Given the description of an element on the screen output the (x, y) to click on. 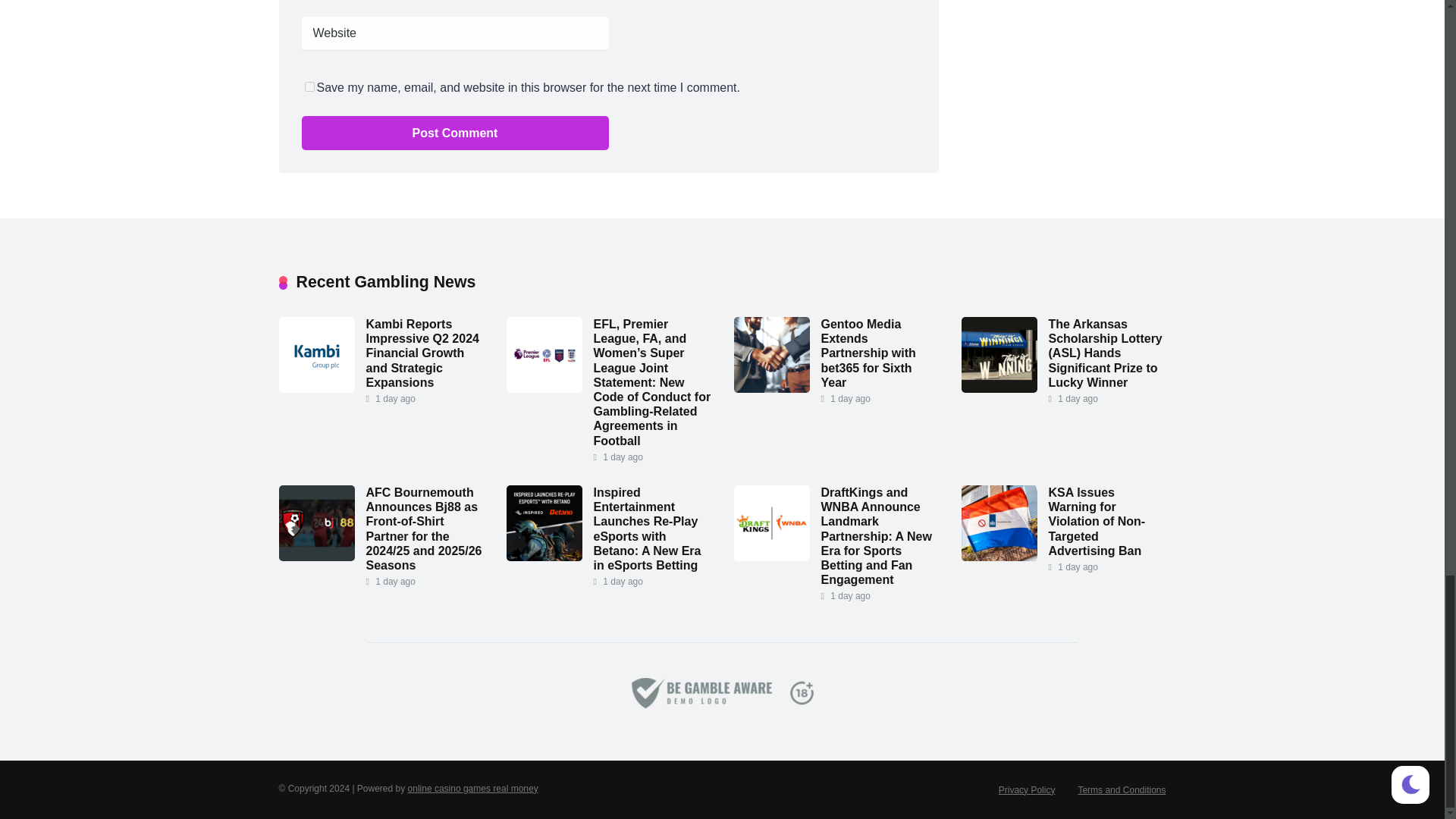
Post Comment (454, 132)
Post Comment (454, 132)
yes (309, 86)
